Given the description of an element on the screen output the (x, y) to click on. 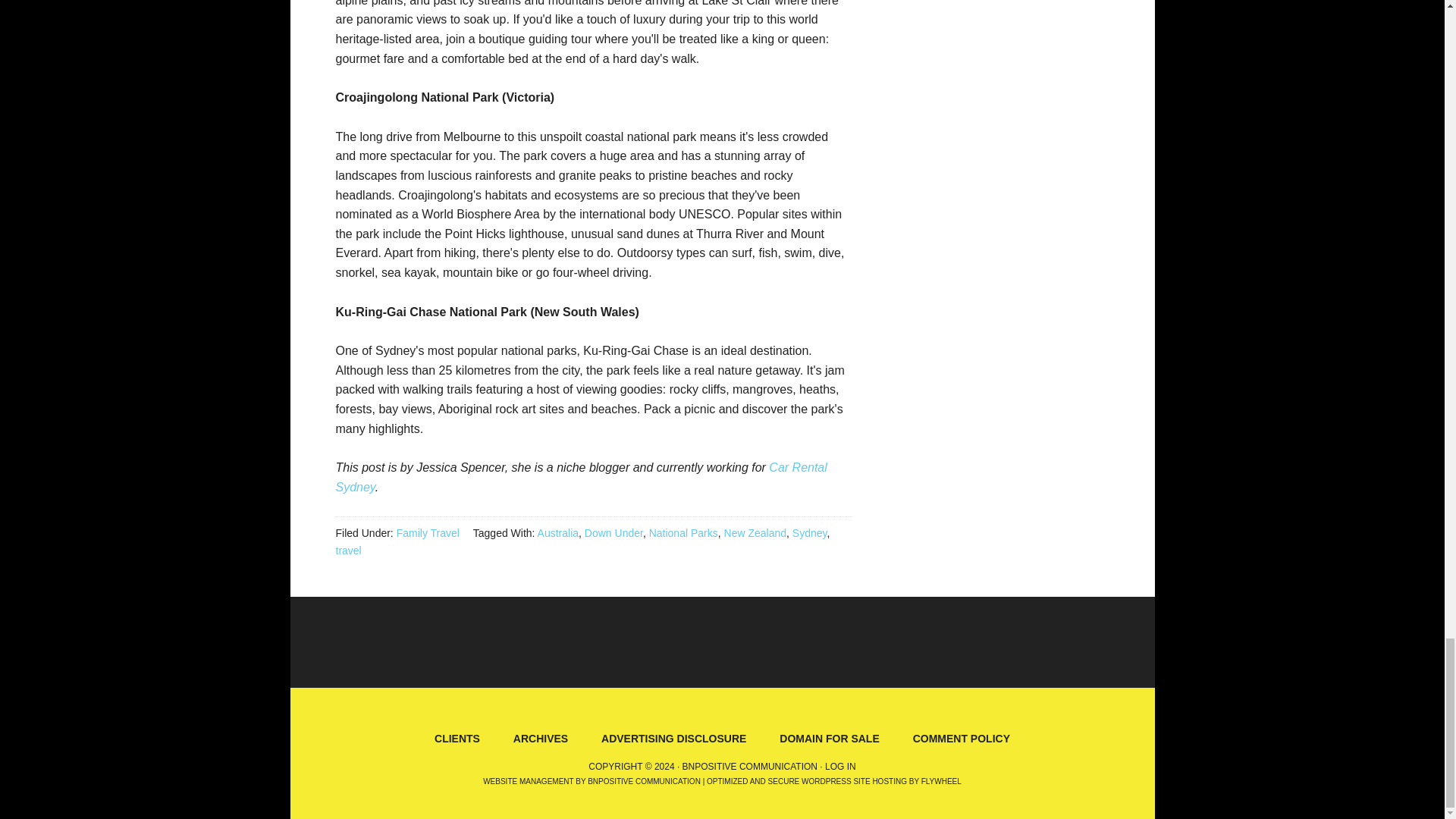
Site Hosting by Flywheel (833, 781)
Car Rental Sydney (580, 477)
New Zealand (755, 532)
Family Travel (428, 532)
Website Management by Bnpositive Communication (591, 781)
travel (347, 550)
Down Under (614, 532)
Australia (557, 532)
Sydney (809, 532)
National Parks (683, 532)
